Given the description of an element on the screen output the (x, y) to click on. 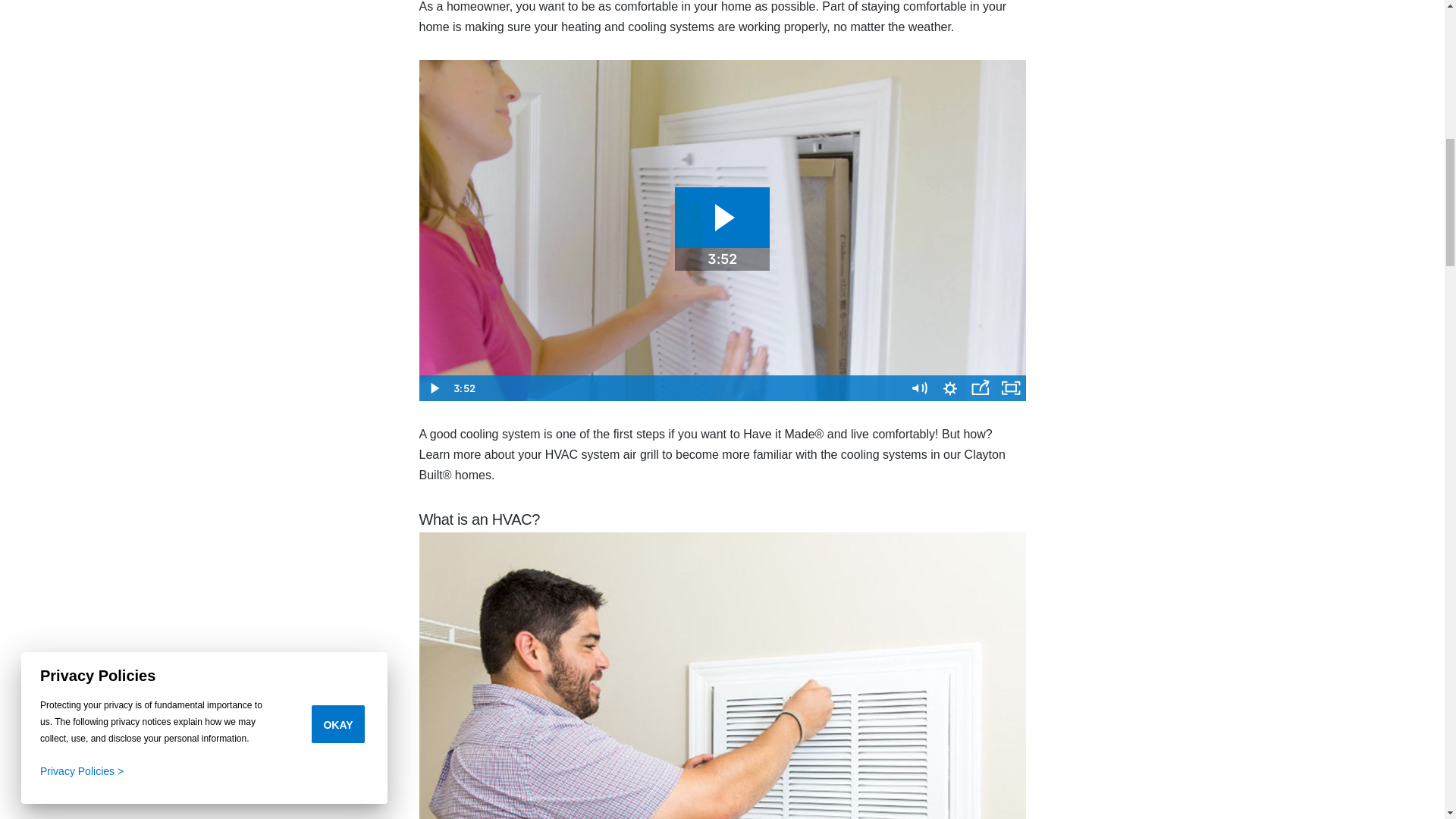
Mute (919, 388)
Fullscreen (1009, 388)
Open sharing menu (978, 388)
Show settings menu (948, 388)
Play Video (433, 388)
